Given the description of an element on the screen output the (x, y) to click on. 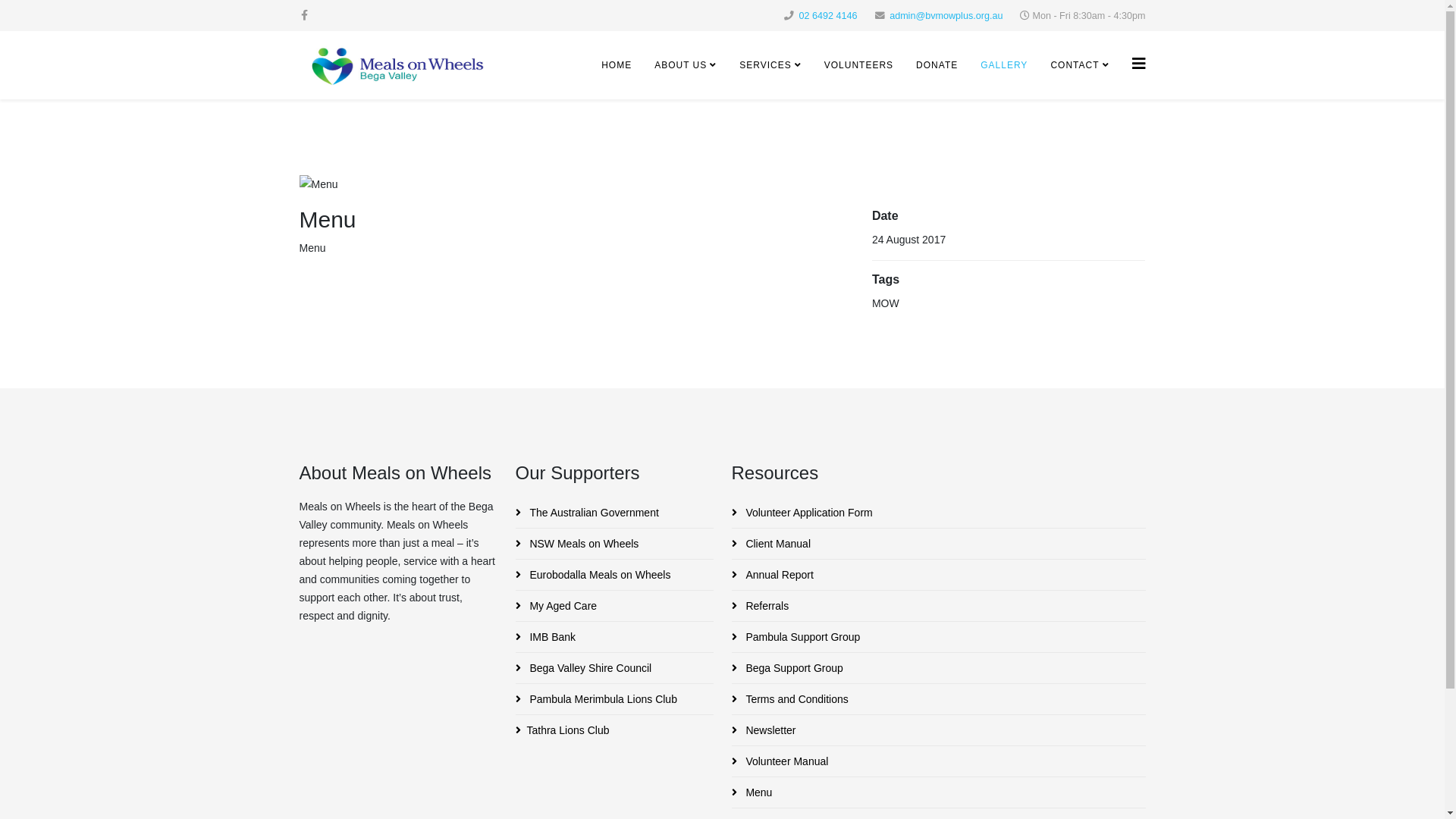
Tathra Lions Club Element type: text (614, 730)
HOME Element type: text (616, 65)
Menu Element type: text (938, 792)
VOLUNTEERS Element type: text (858, 65)
Helix3 Megamenu Options Element type: hover (1138, 63)
DONATE Element type: text (936, 65)
Volunteer Application Form Element type: text (938, 512)
My Aged Care Element type: text (614, 605)
Newsletter Element type: text (938, 730)
CONTACT Element type: text (1079, 65)
Client Manual Element type: text (938, 543)
02 6492 4146 Element type: text (828, 15)
admin@bvmowplus.org.au Element type: text (945, 15)
Volunteer Manual Element type: text (938, 761)
ABOUT US Element type: text (685, 65)
Eurobodalla Meals on Wheels Element type: text (614, 574)
GALLERY Element type: text (1003, 65)
The Australian Government Element type: text (614, 512)
NSW Meals on Wheels Element type: text (614, 543)
Bega Valley Shire Council Element type: text (614, 667)
Pambula Support Group Element type: text (938, 636)
Annual Report Element type: text (938, 574)
SERVICES Element type: text (770, 65)
Bega Support Group Element type: text (938, 667)
Pambula Merimbula Lions Club Element type: text (614, 699)
IMB Bank Element type: text (614, 636)
Referrals Element type: text (938, 605)
Terms and Conditions Element type: text (938, 699)
